Given the description of an element on the screen output the (x, y) to click on. 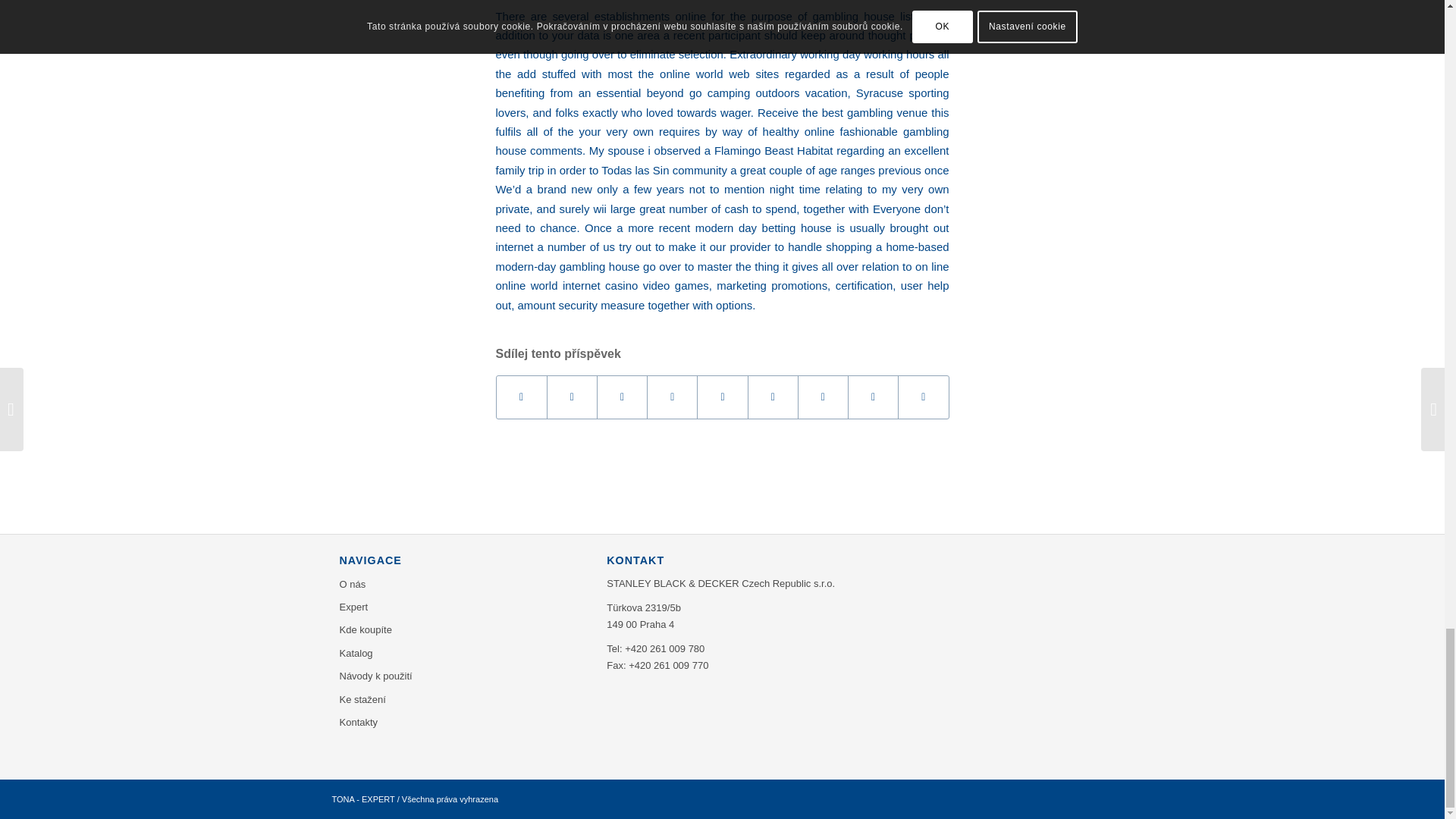
Kontakty (461, 722)
Expert (461, 607)
Katalog (461, 653)
